Given the description of an element on the screen output the (x, y) to click on. 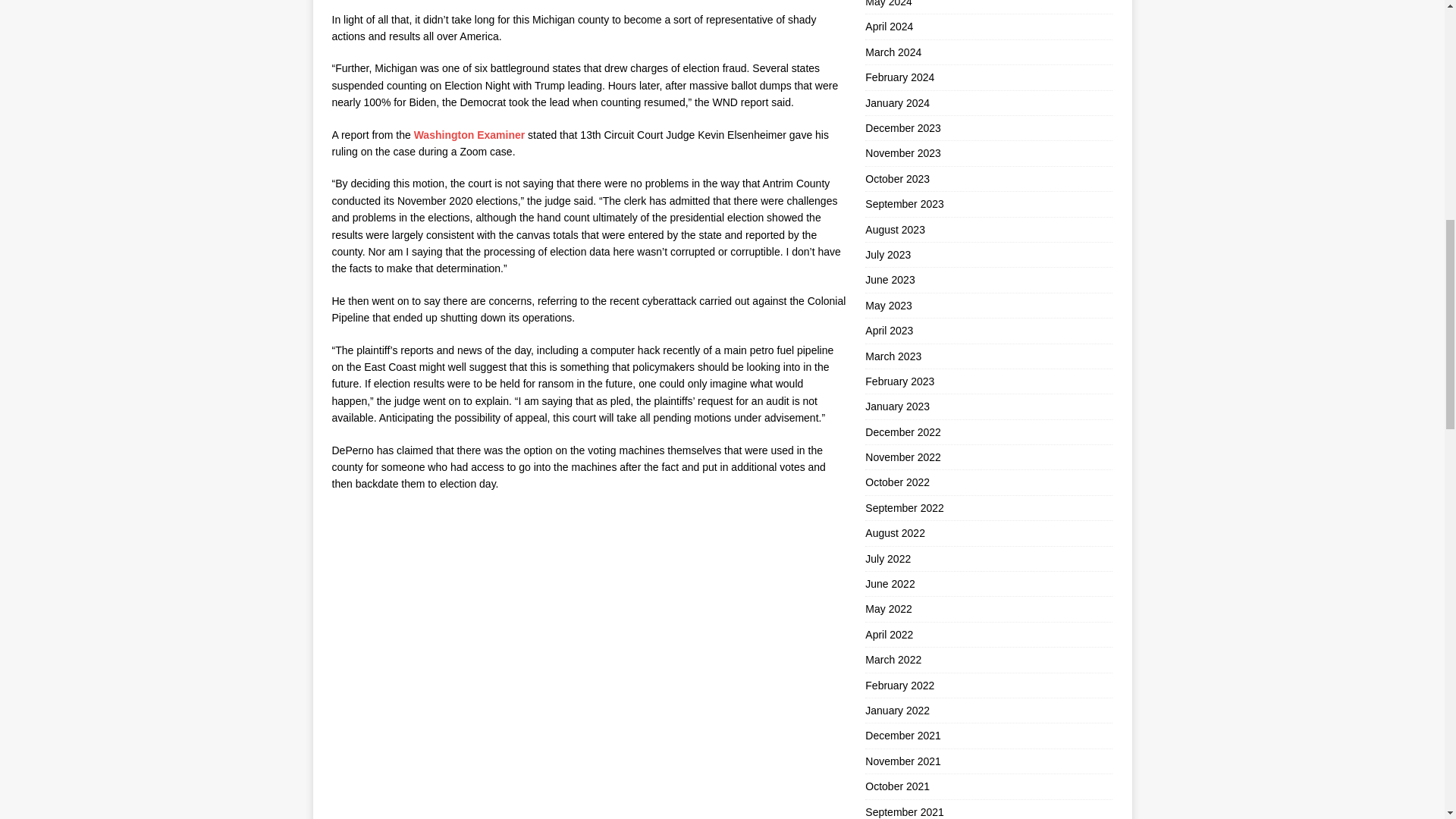
November 2023 (988, 152)
July 2023 (988, 254)
April 2024 (988, 26)
September 2023 (988, 203)
April 2023 (988, 330)
January 2024 (988, 102)
October 2023 (988, 178)
May 2024 (988, 6)
June 2023 (988, 279)
February 2023 (988, 381)
March 2024 (988, 52)
August 2023 (988, 229)
March 2023 (988, 355)
December 2023 (988, 128)
